Given the description of an element on the screen output the (x, y) to click on. 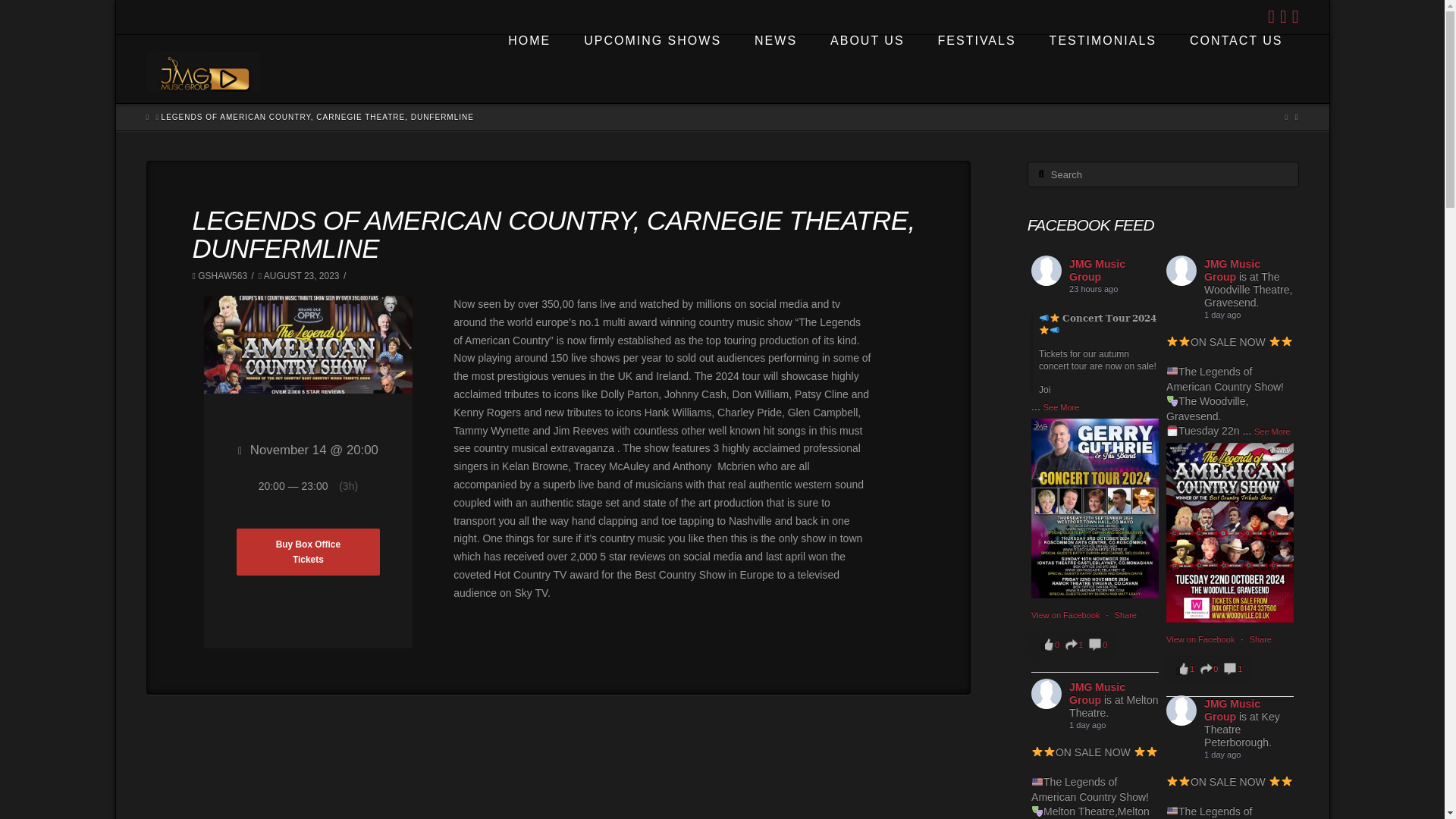
Buy Box Office Tickets (307, 551)
JMG Music Group (1072, 644)
HOME (1096, 269)
UPCOMING SHOWS (528, 69)
Share (651, 69)
CONTACT US (1260, 638)
See More (1235, 69)
Instagram (1061, 406)
See More (1295, 16)
YouTube (1271, 430)
HOME (1283, 16)
You Are Here (147, 117)
Share (317, 117)
View on Facebook (1126, 614)
